Given the description of an element on the screen output the (x, y) to click on. 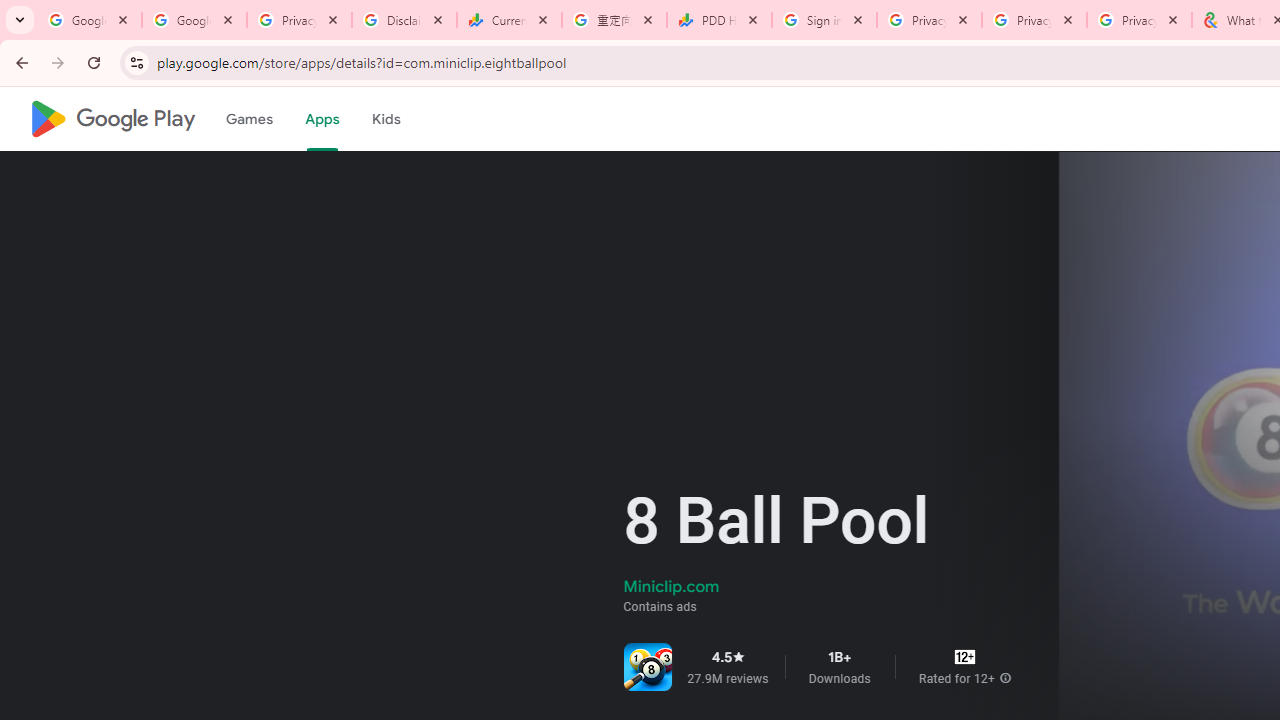
Content rating (964, 656)
Kids (385, 119)
Google Workspace Admin Community (89, 20)
Google Play logo (111, 119)
